Given the description of an element on the screen output the (x, y) to click on. 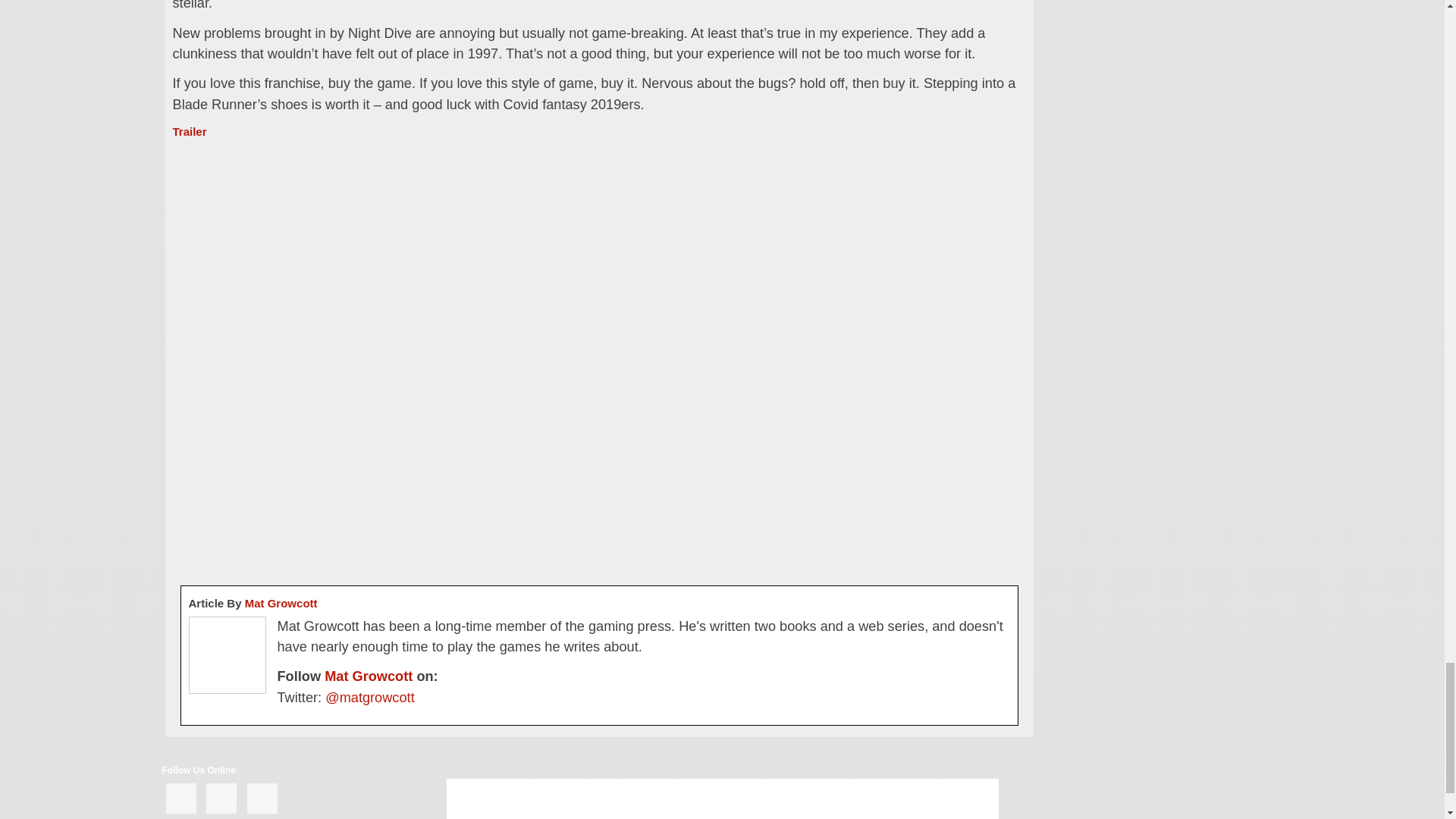
Follow Us On Twitter (220, 798)
Follow Us On Facebook (180, 798)
Posts by Mat Growcott (280, 603)
Posts by Mat Growcott (368, 676)
